Given the description of an element on the screen output the (x, y) to click on. 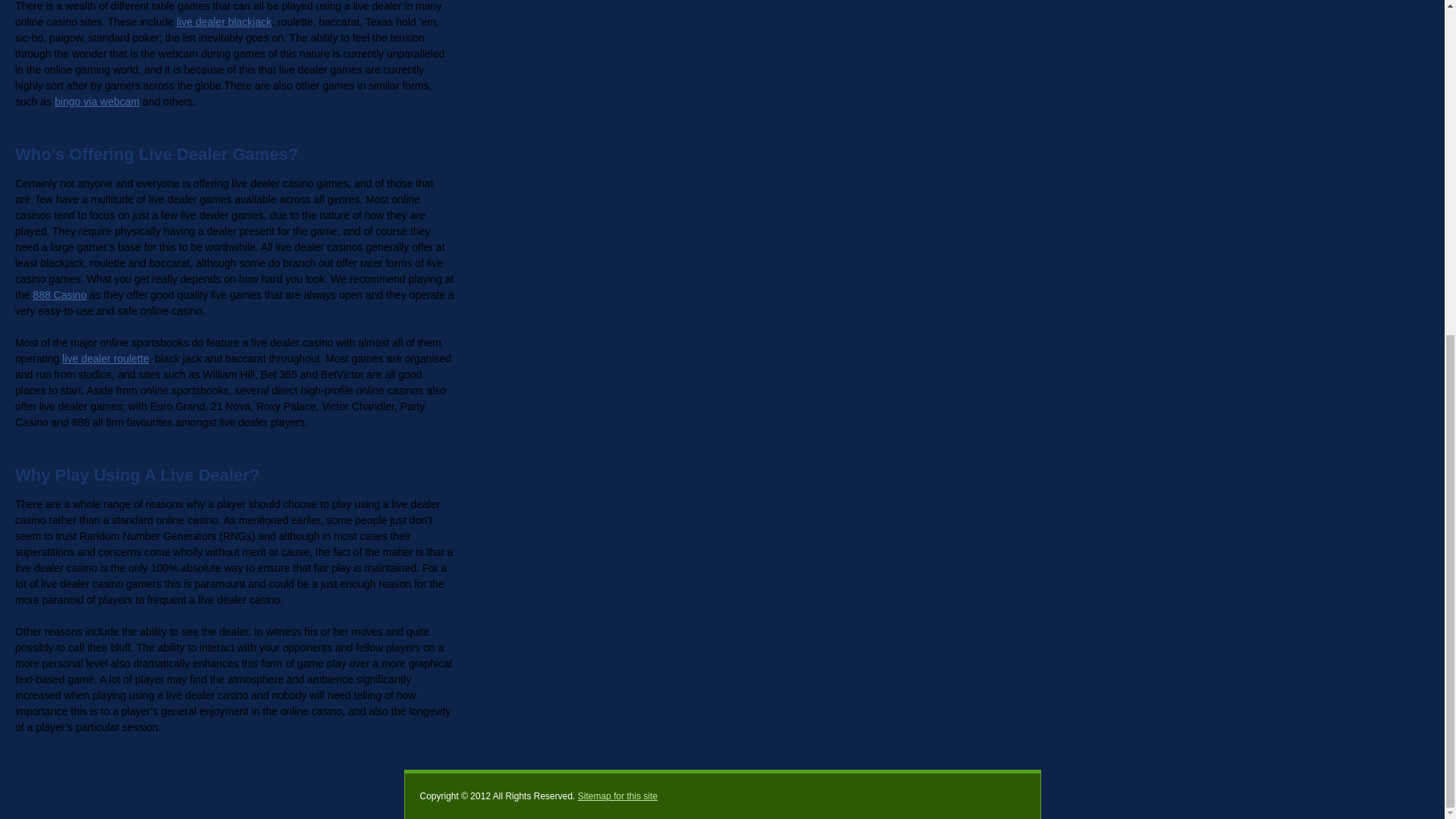
888 Casino (58, 295)
Sitemap for this site (618, 796)
live dealer blackjack (223, 21)
bingo via webcam (97, 101)
live dealer roulette (105, 358)
